Given the description of an element on the screen output the (x, y) to click on. 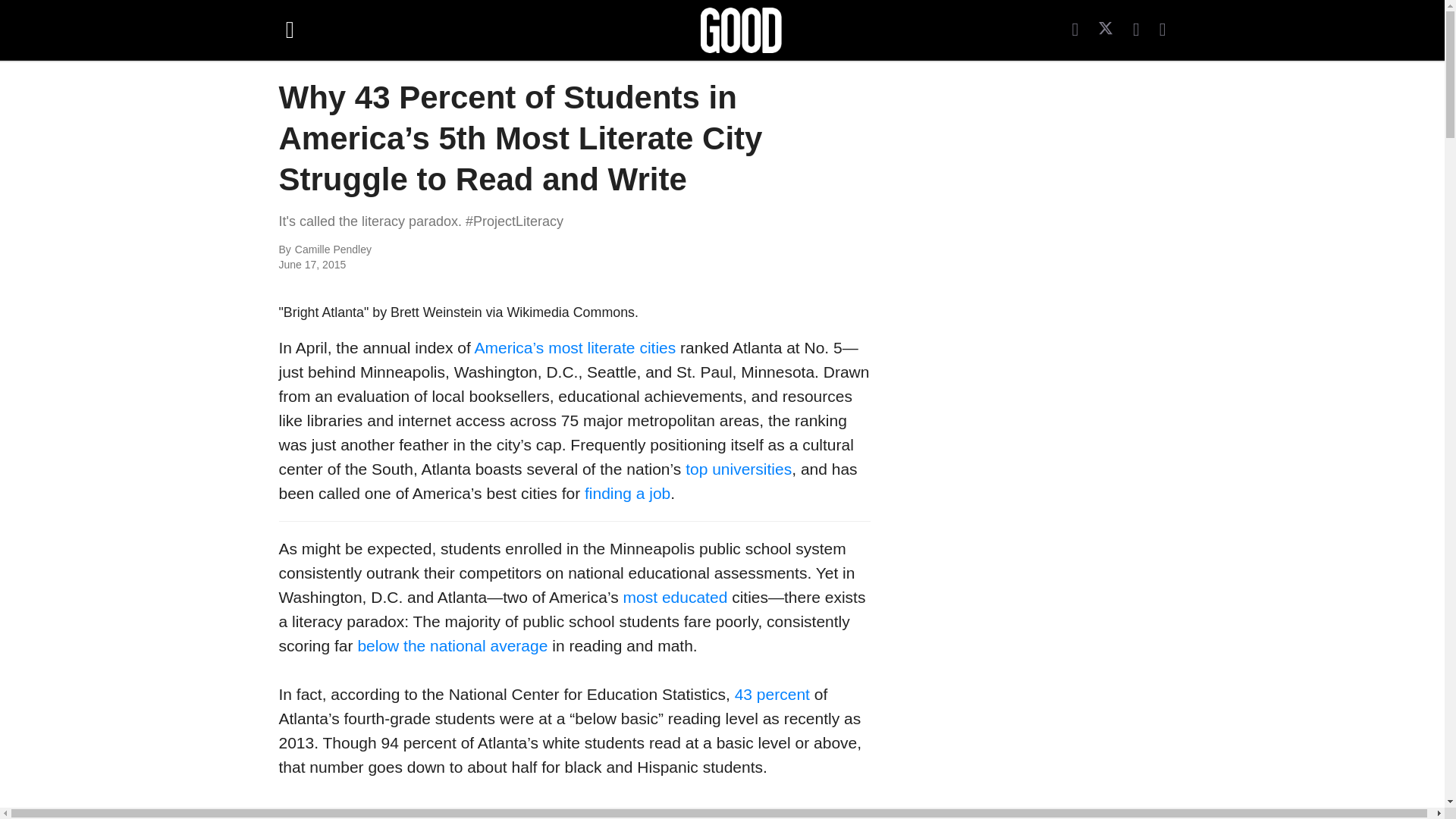
43 percent (772, 693)
Camille Pendley (459, 249)
most educated (675, 597)
finding a job (627, 493)
top universities (738, 468)
below the national average (451, 645)
